Given the description of an element on the screen output the (x, y) to click on. 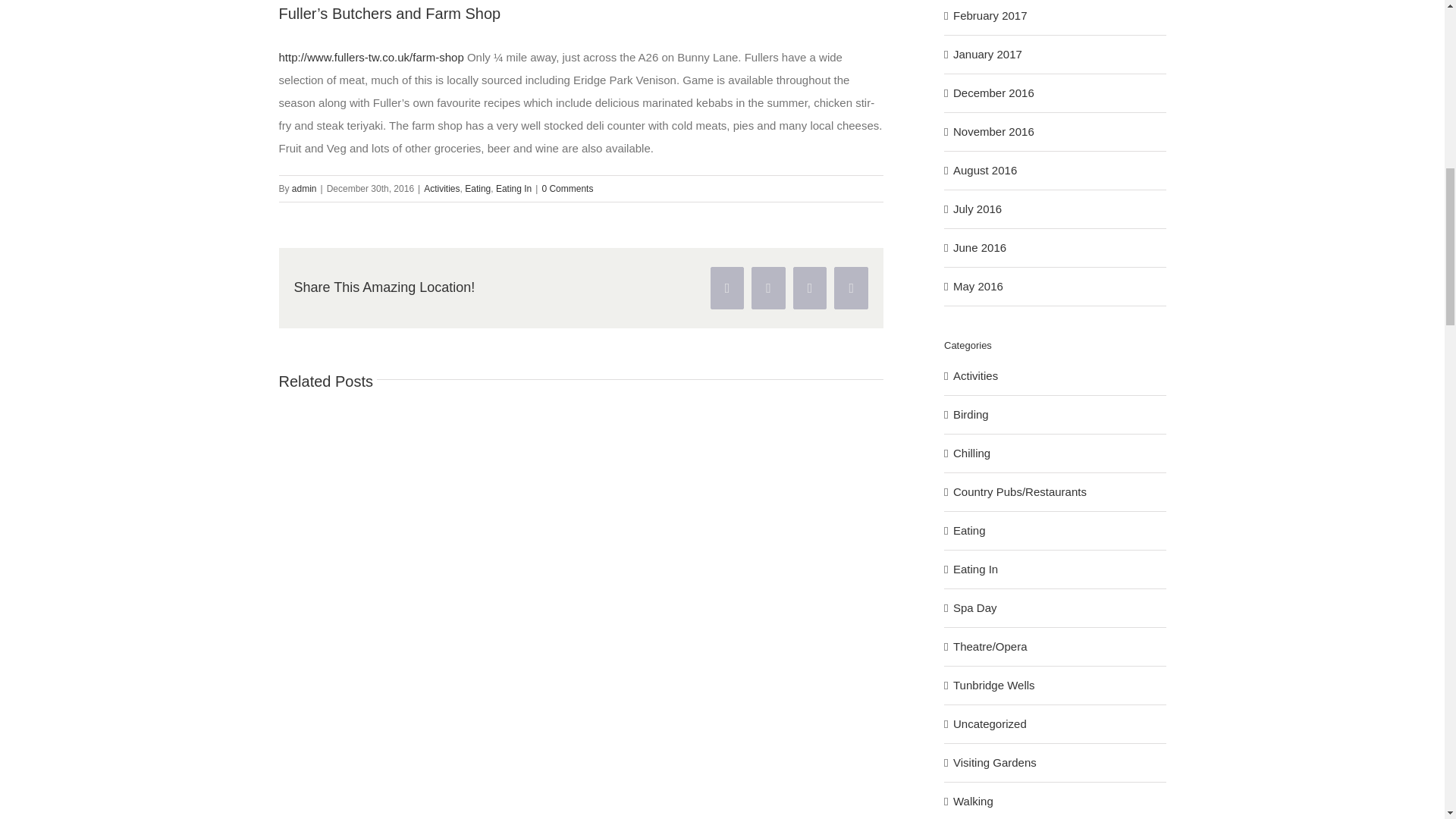
Activities (441, 188)
Eating (477, 188)
Eating In (513, 188)
0 Comments (566, 188)
Posts by admin (304, 188)
admin (304, 188)
